Given the description of an element on the screen output the (x, y) to click on. 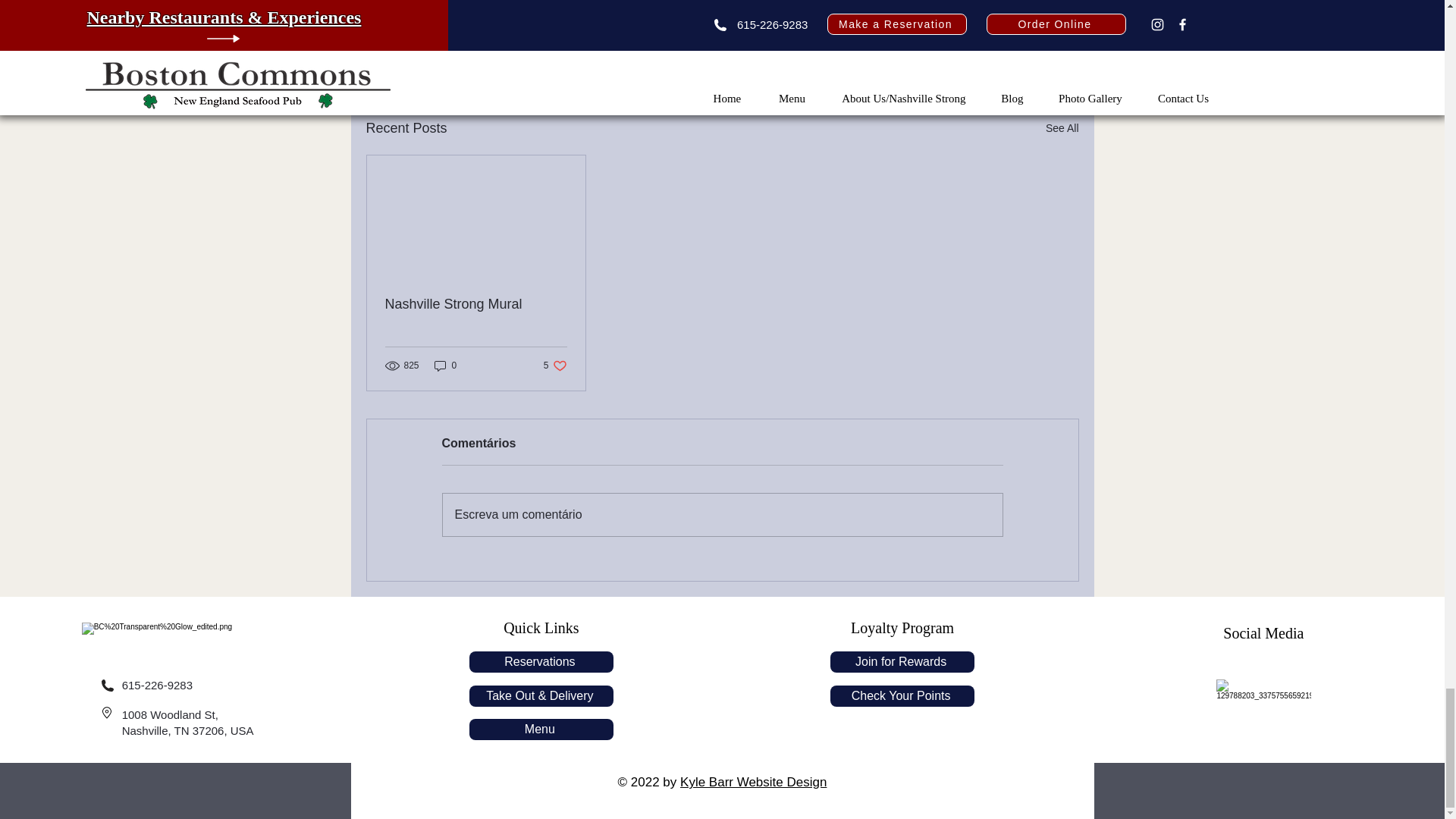
See All (555, 365)
Join for Rewards (1061, 128)
Check Your Points (901, 661)
Nashville Strong Mural (901, 695)
Menu (476, 304)
Reservations (990, 45)
0 (540, 729)
